Given the description of an element on the screen output the (x, y) to click on. 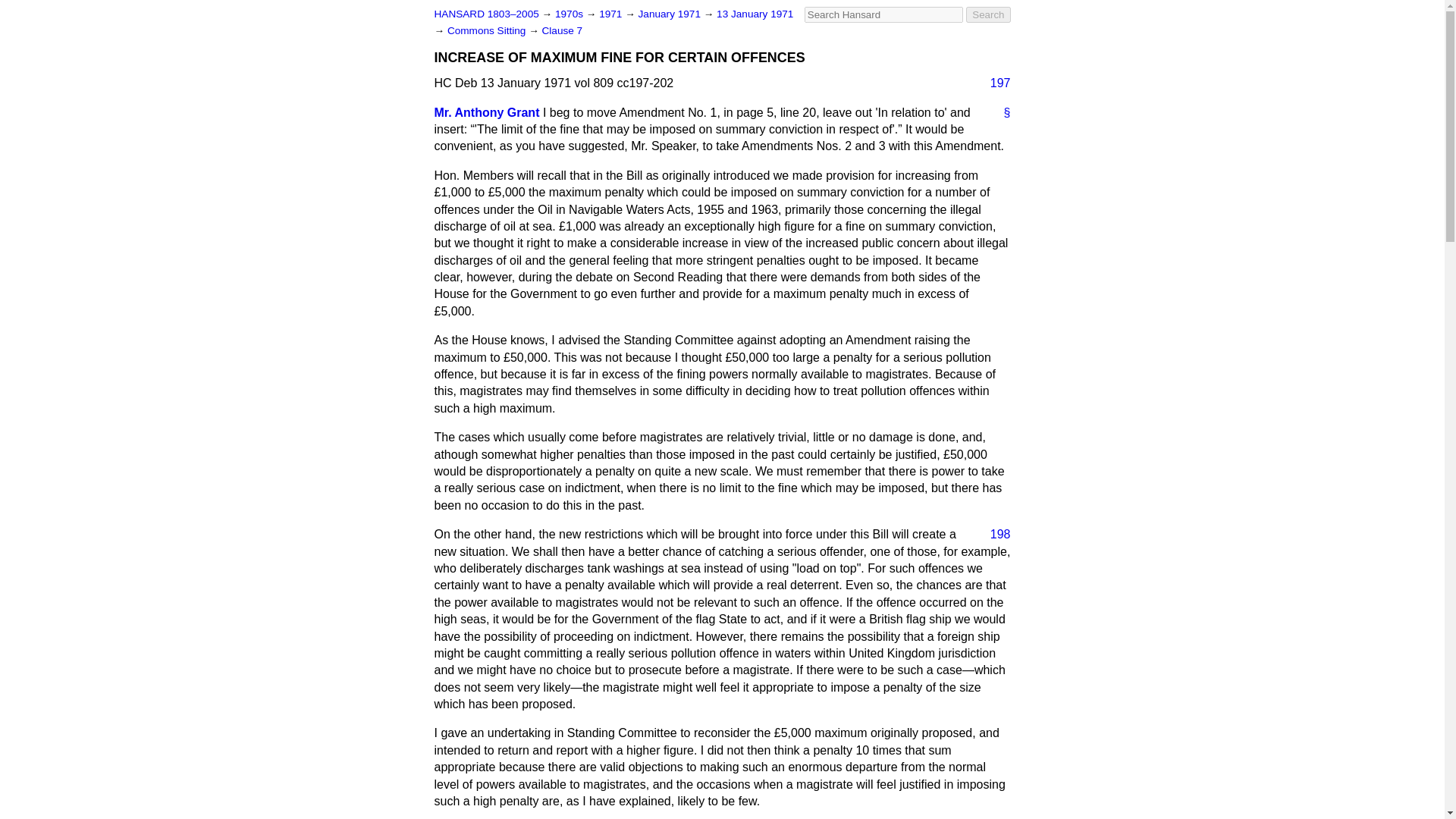
1970s (570, 13)
198 (994, 534)
January 1971 (671, 13)
Search (988, 14)
Access key: S (883, 14)
Clause 7 (562, 30)
Search (988, 14)
Link to this speech by Mr Anthony Grant (1000, 112)
1971 (611, 13)
Commons Sitting (487, 30)
Mr. Anthony Grant (485, 112)
Mr Anthony Grant (485, 112)
197 (994, 83)
13 January 1971 (754, 13)
